Given the description of an element on the screen output the (x, y) to click on. 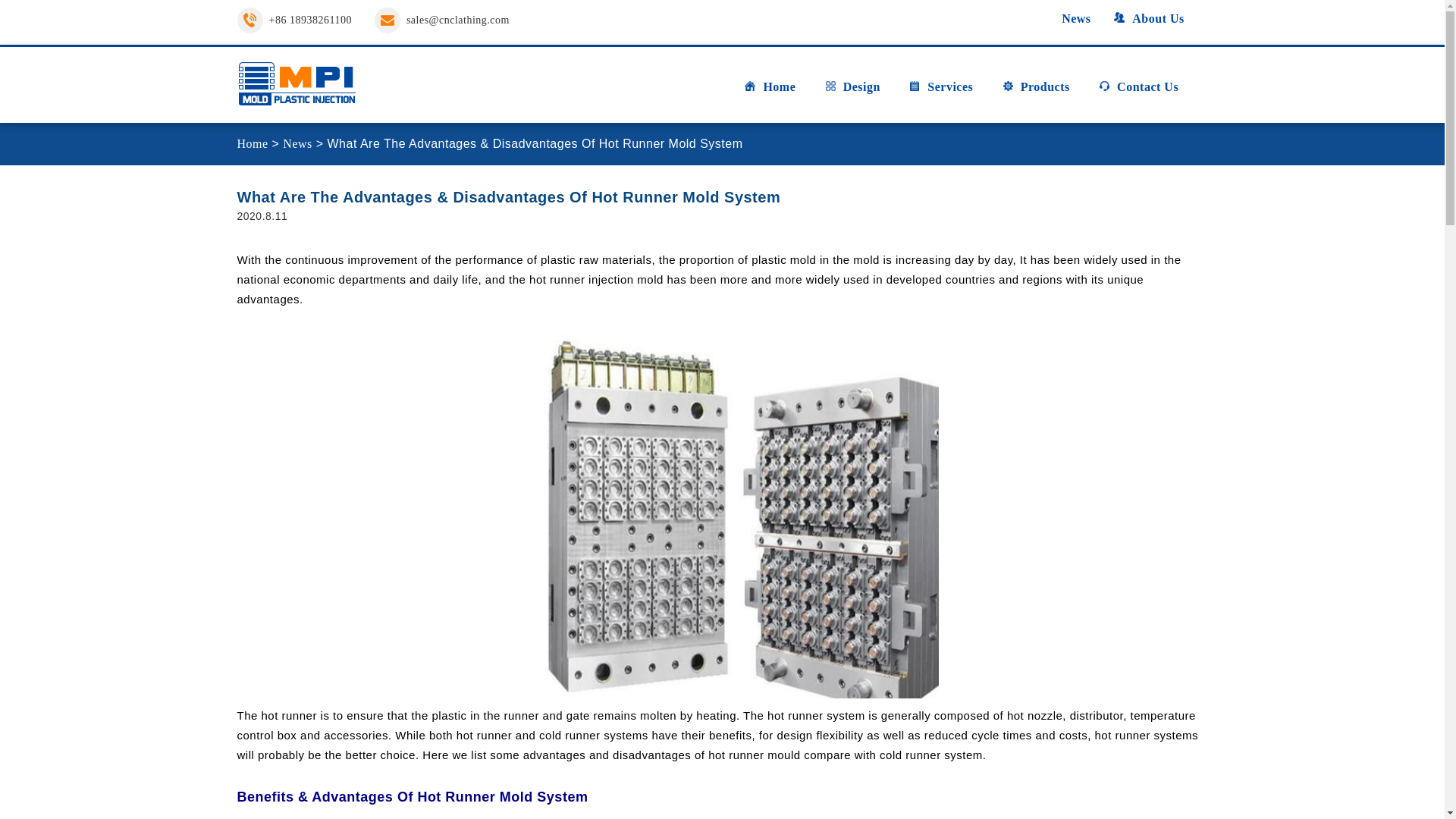
Contact Us (1138, 92)
Products (1036, 92)
Go to the News category archives. (296, 143)
Design (852, 92)
About Us (1148, 18)
Services (940, 92)
News (1066, 18)
Home (769, 92)
